Given the description of an element on the screen output the (x, y) to click on. 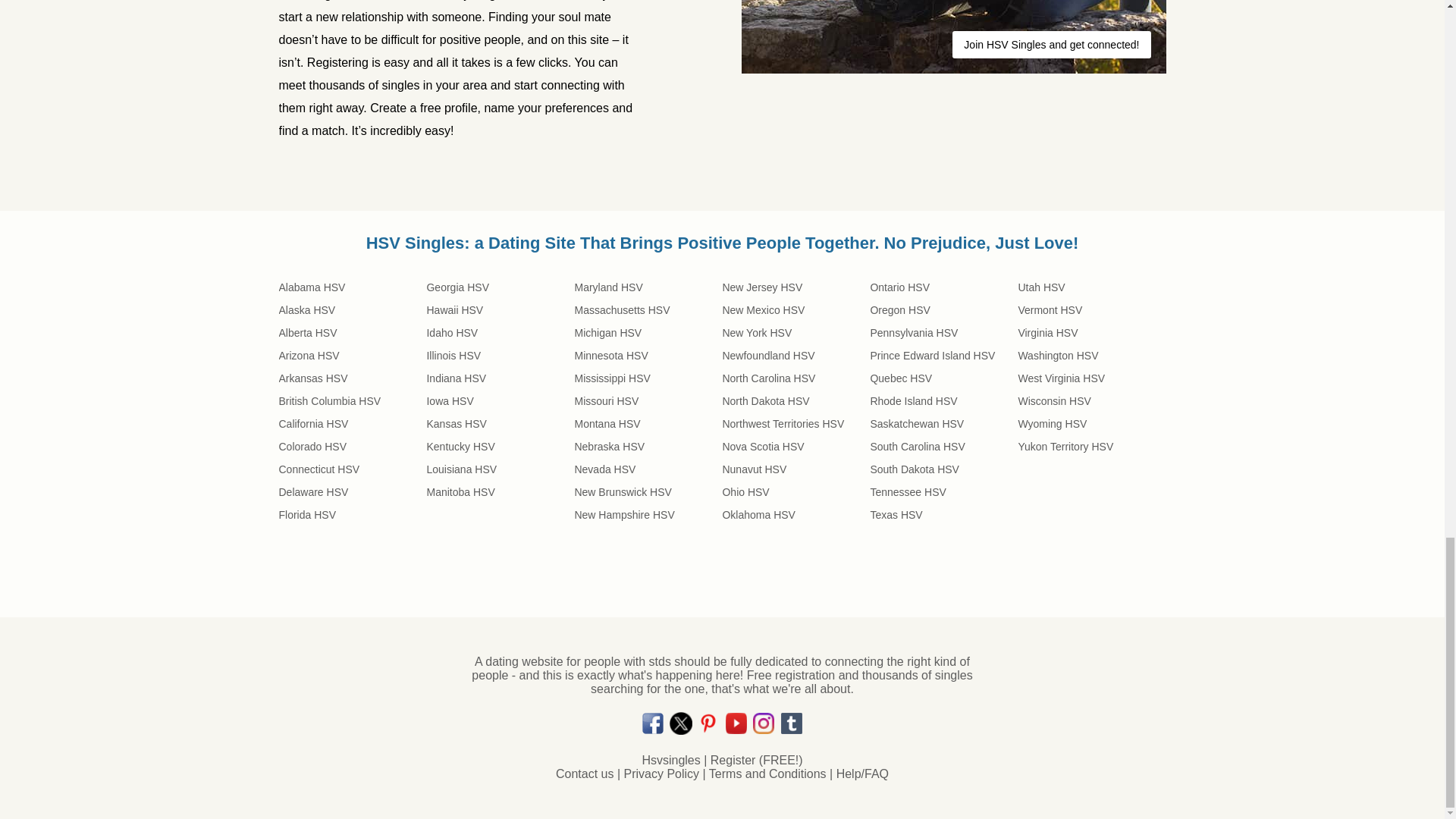
Alabama HSV (348, 287)
Arizona HSV (348, 354)
Alaska HSV (348, 309)
Arkansas HSV (348, 377)
Alberta HSV (348, 332)
